Given the description of an element on the screen output the (x, y) to click on. 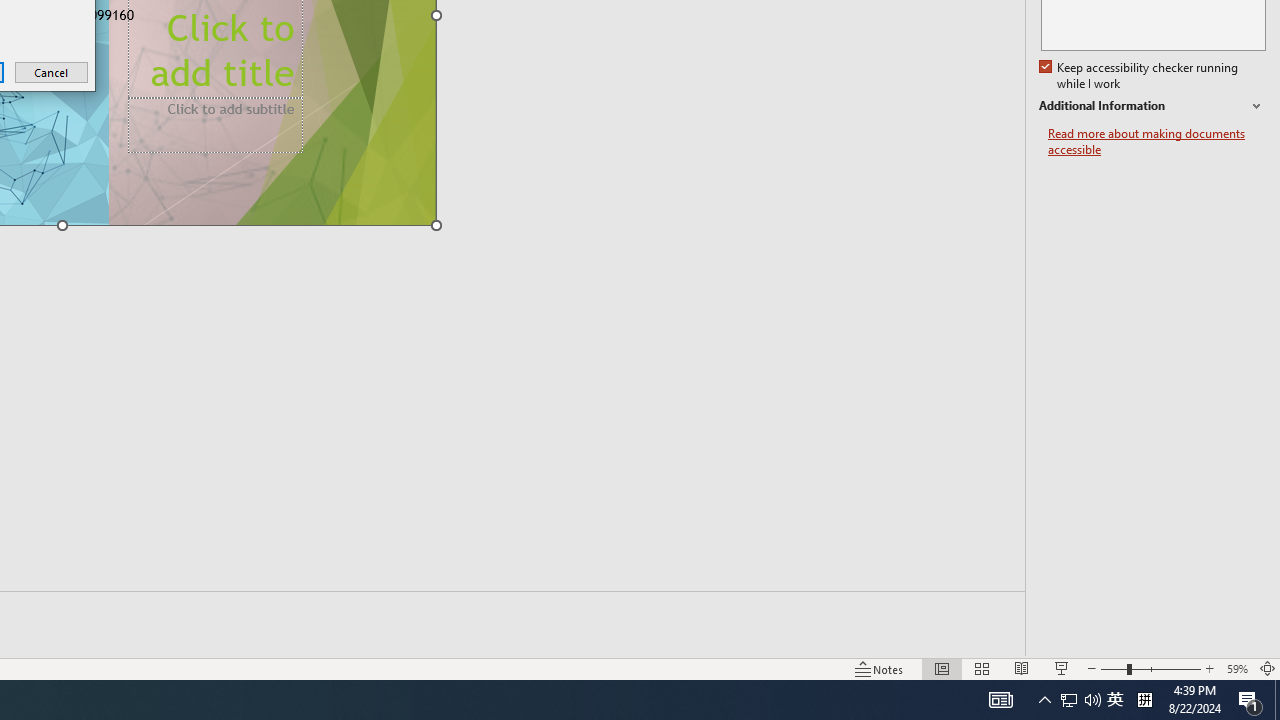
Show desktop (1277, 699)
Read more about making documents accessible (1156, 142)
Zoom 59% (1236, 668)
